Given the description of an element on the screen output the (x, y) to click on. 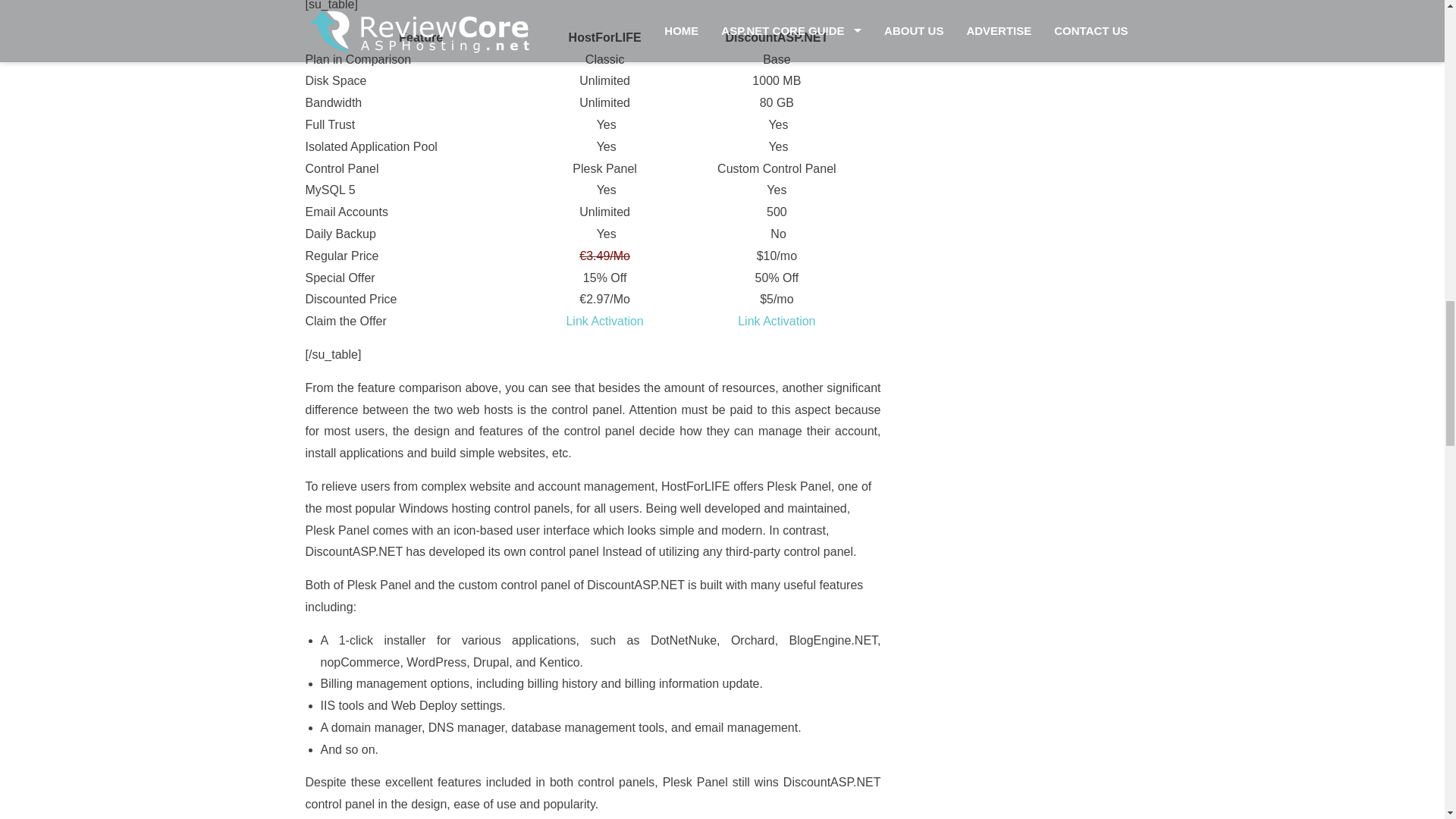
Link Activation (776, 320)
Link Activation (604, 320)
